Given the description of an element on the screen output the (x, y) to click on. 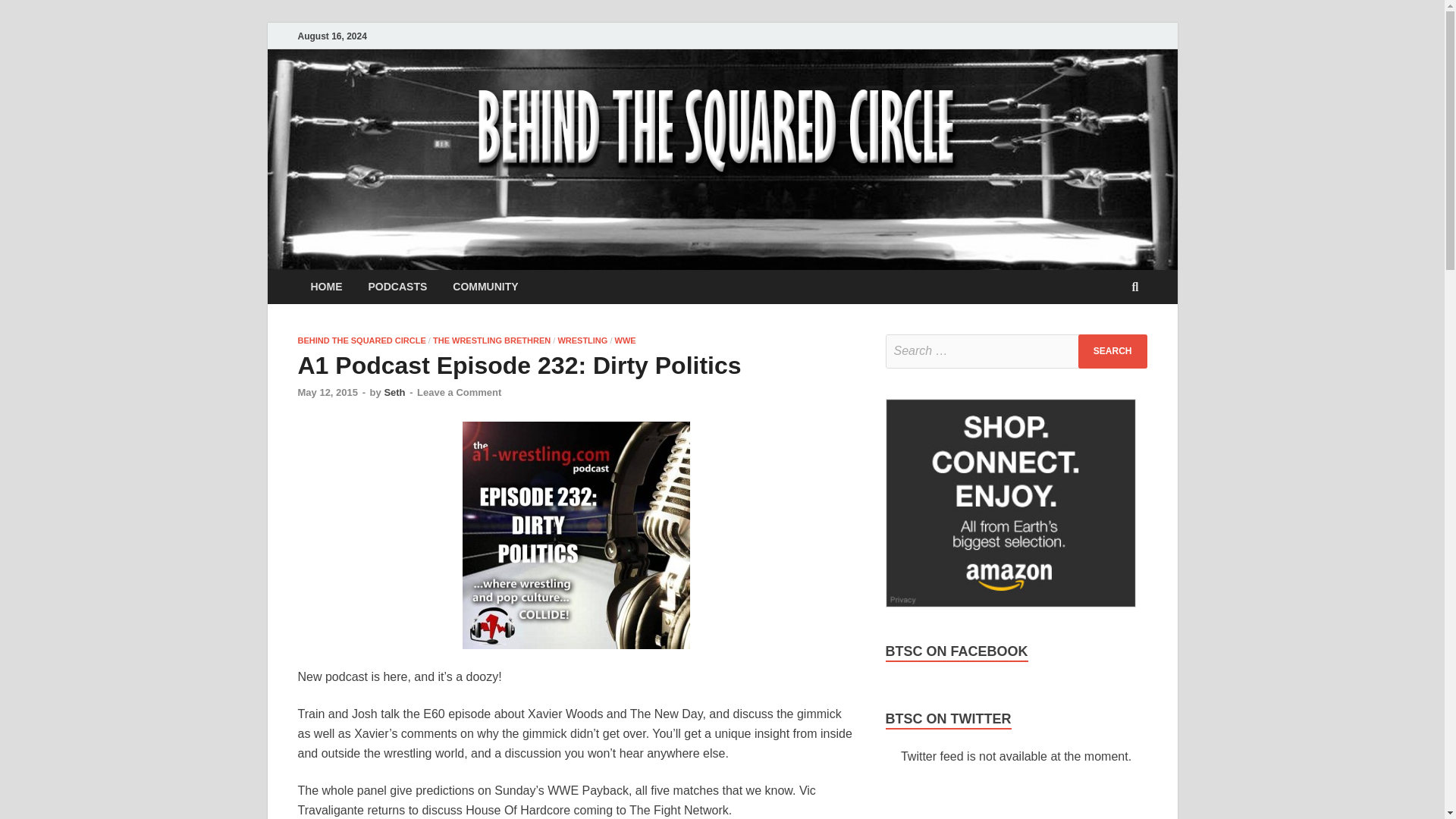
COMMUNITY (485, 286)
WRESTLING (582, 339)
PODCASTS (397, 286)
BEHIND THE SQUARED CIRCLE (361, 339)
WWE (625, 339)
Leave a Comment (458, 392)
Search (1112, 351)
Search (1112, 351)
Seth (394, 392)
THE WRESTLING BRETHREN (491, 339)
